Given the description of an element on the screen output the (x, y) to click on. 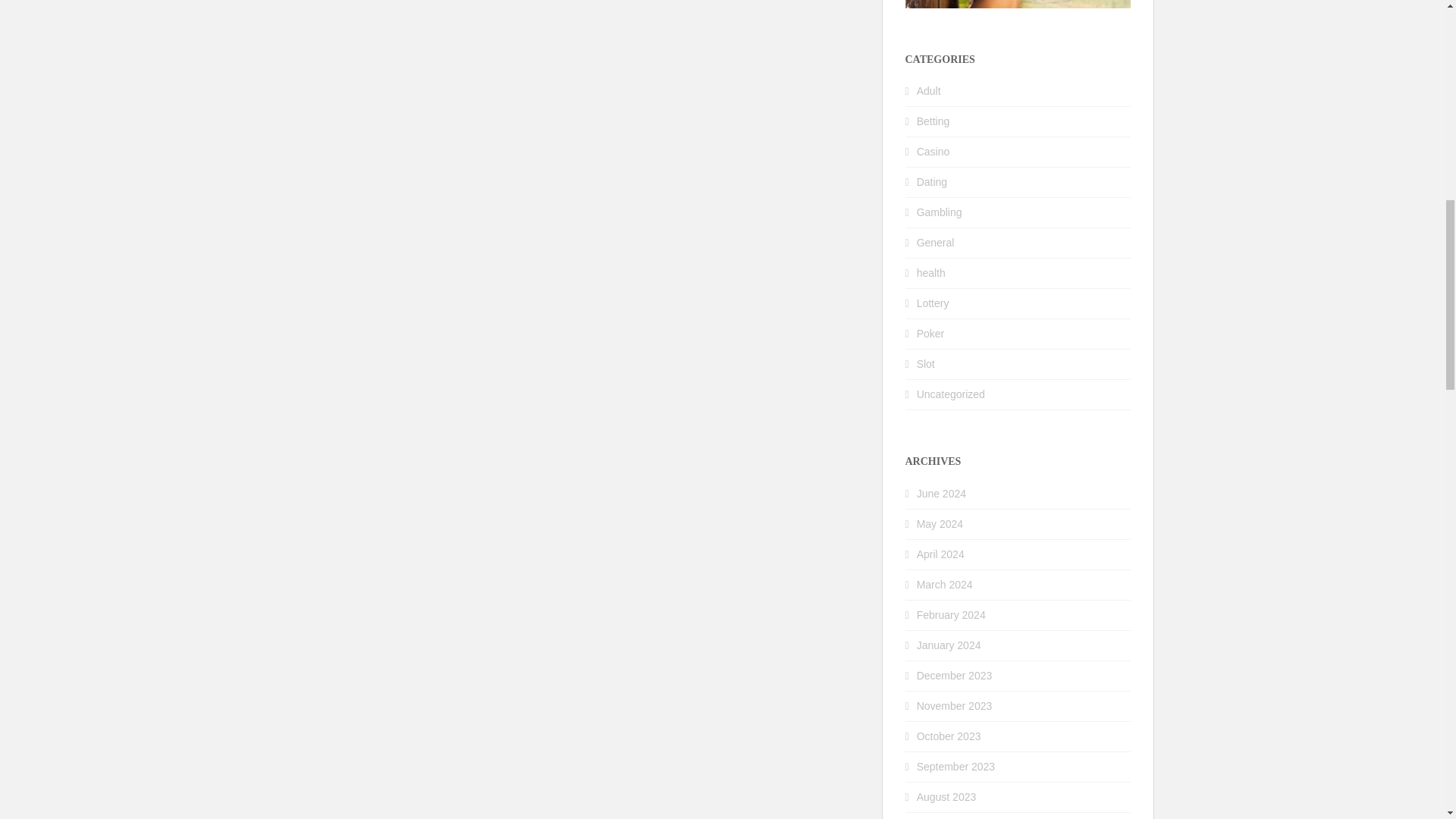
Casino (933, 151)
Lottery (933, 303)
Dating (932, 182)
health (930, 272)
February 2024 (951, 614)
June 2024 (941, 493)
Gambling (939, 212)
April 2024 (940, 553)
Poker (930, 333)
Betting (933, 121)
